Given the description of an element on the screen output the (x, y) to click on. 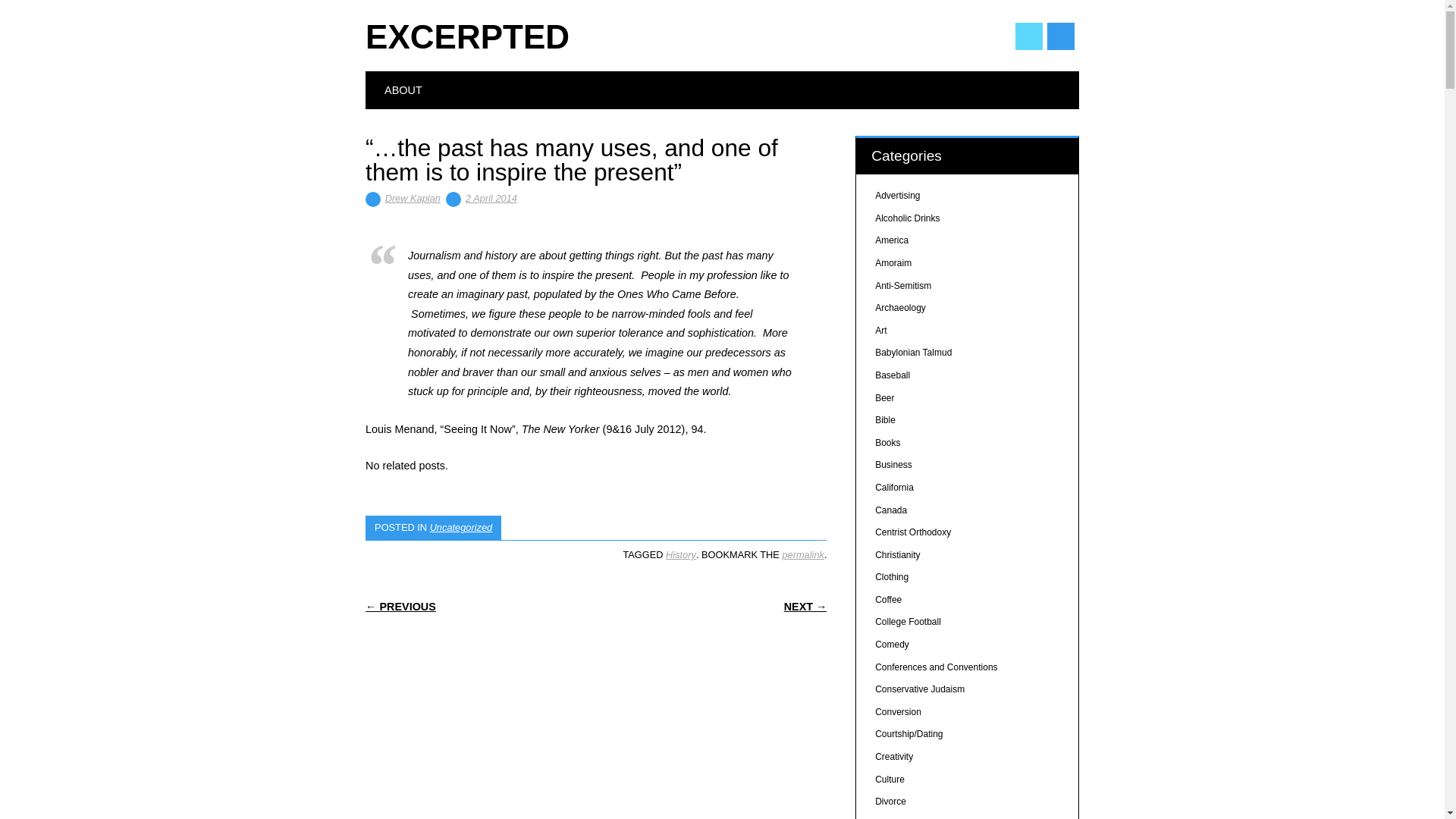
Drew Kaplan (413, 197)
Coffee (888, 599)
2 April 2014 (490, 197)
Clothing (891, 576)
Comedy (891, 644)
Divorce (890, 801)
Conversion (898, 711)
Anti-Semitism (903, 285)
Culture (889, 778)
Alcoholic Drinks (907, 217)
Baseball (892, 375)
Business (893, 464)
Uncategorized (461, 527)
Babylonian Talmud (913, 352)
Beer (884, 398)
